Given the description of an element on the screen output the (x, y) to click on. 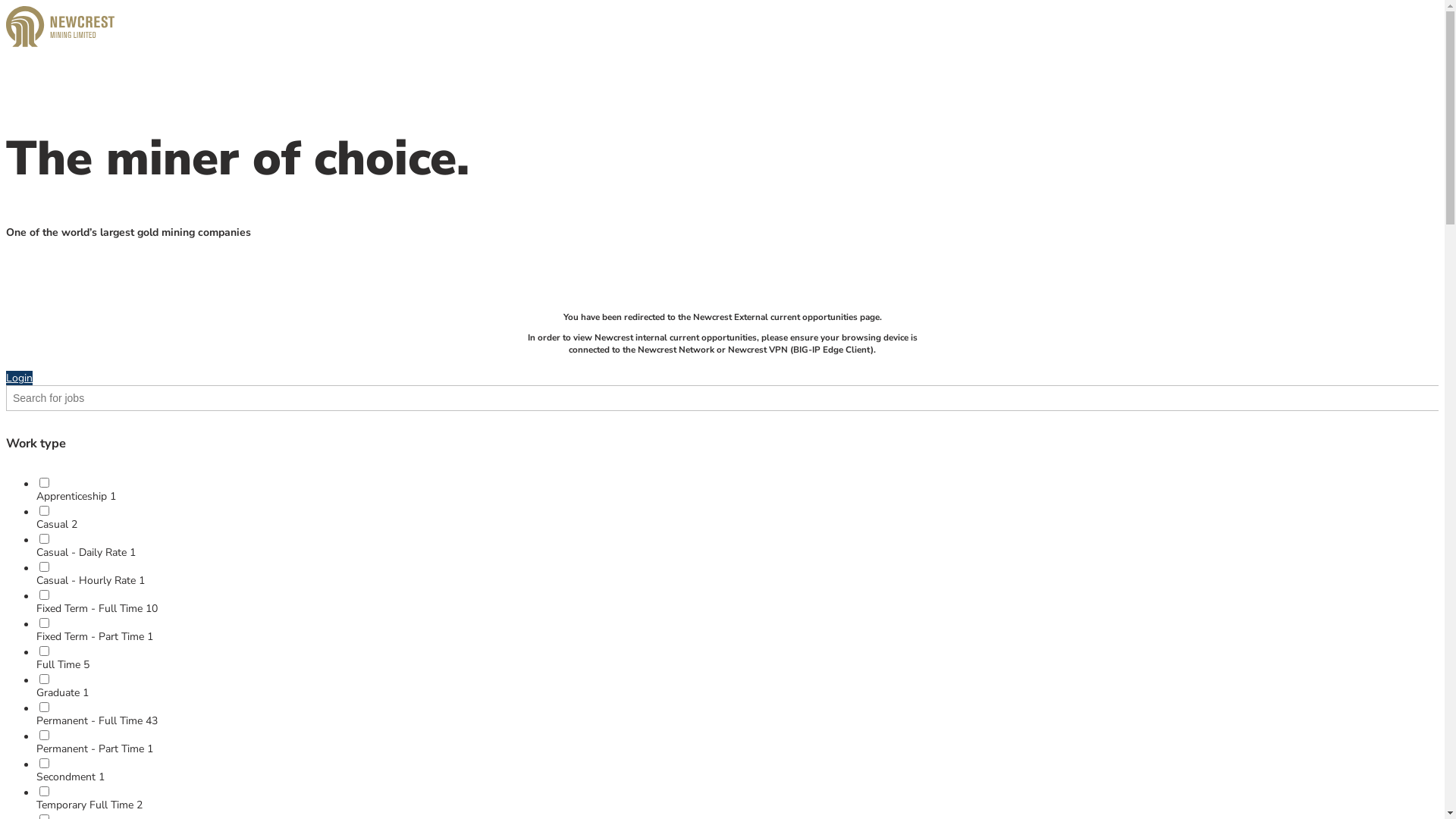
Login Element type: text (19, 377)
